Given the description of an element on the screen output the (x, y) to click on. 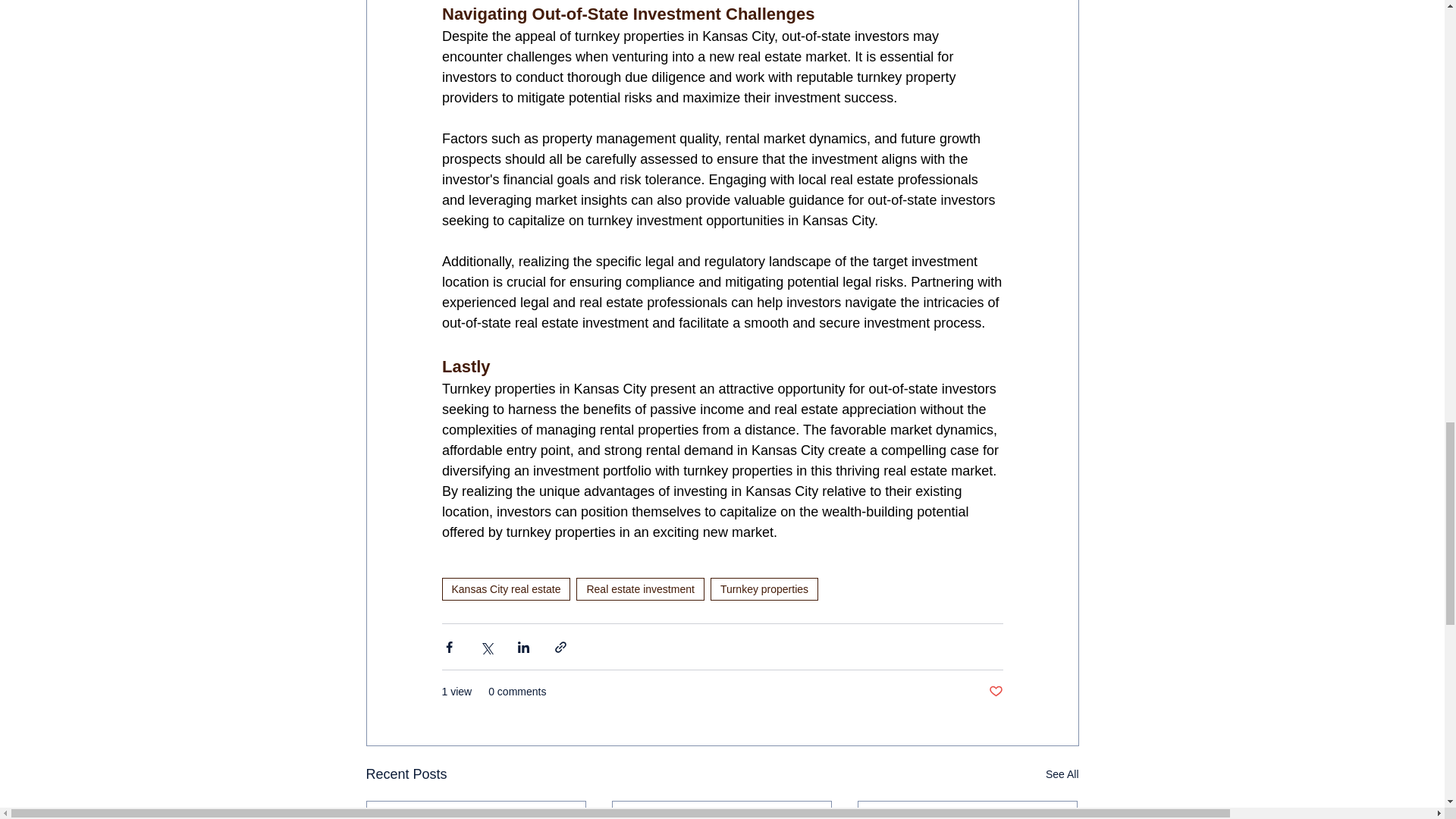
Kansas City real estate (505, 589)
See All (1061, 774)
Turnkey properties (764, 589)
Real estate investment (639, 589)
Post not marked as liked (995, 691)
